Given the description of an element on the screen output the (x, y) to click on. 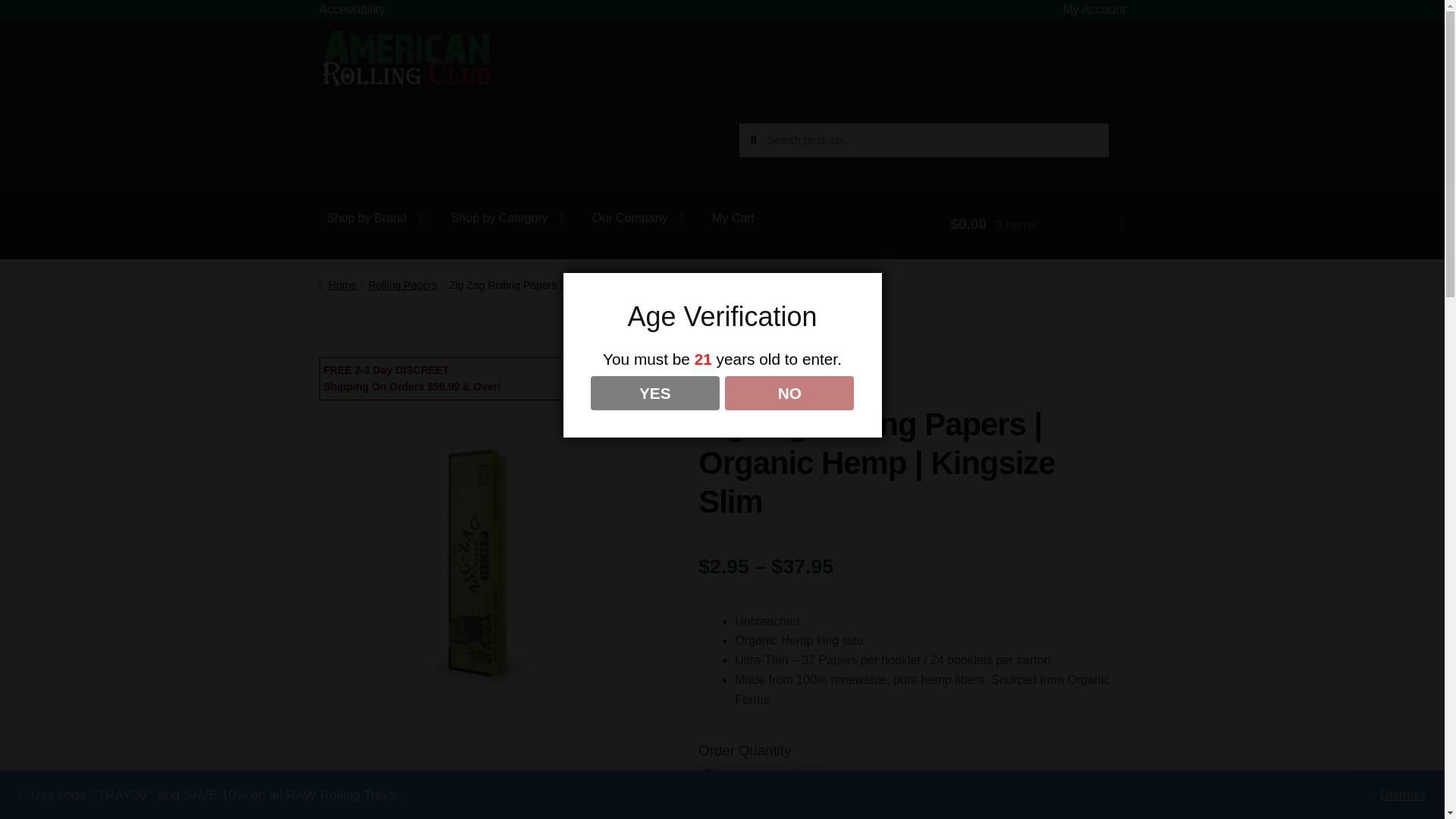
Shop by Brand (374, 218)
My Account (1093, 9)
1 (723, 815)
Shop by Category (507, 218)
Accessibility (351, 9)
View your shopping cart (1037, 224)
